Given the description of an element on the screen output the (x, y) to click on. 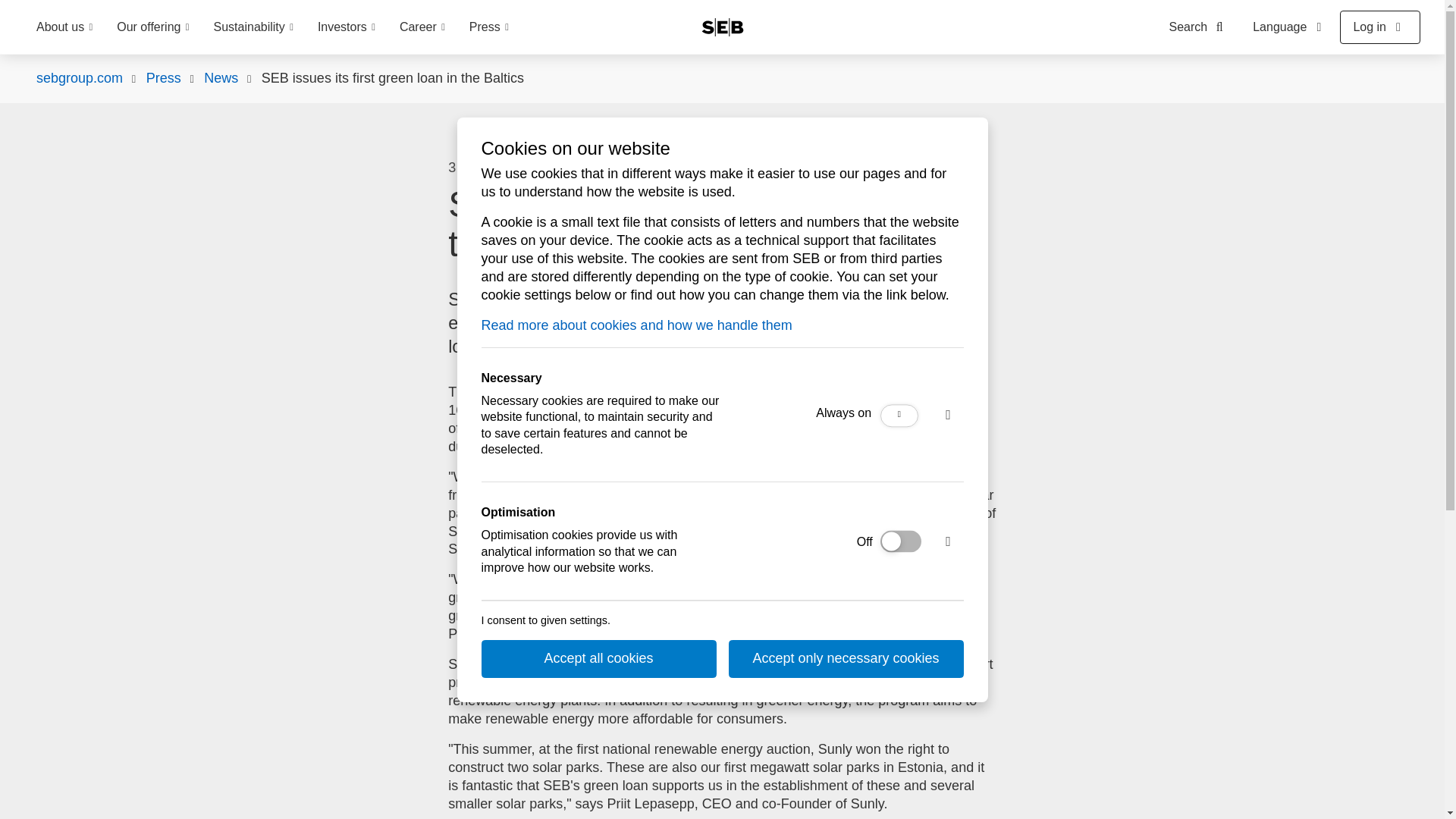
Language (1289, 27)
Press (489, 27)
Log in (1380, 27)
Investors (346, 27)
Sustainability (253, 27)
Our offering (152, 27)
LinkedIn (696, 168)
Career (422, 27)
About us (64, 27)
Search (1199, 27)
